Given the description of an element on the screen output the (x, y) to click on. 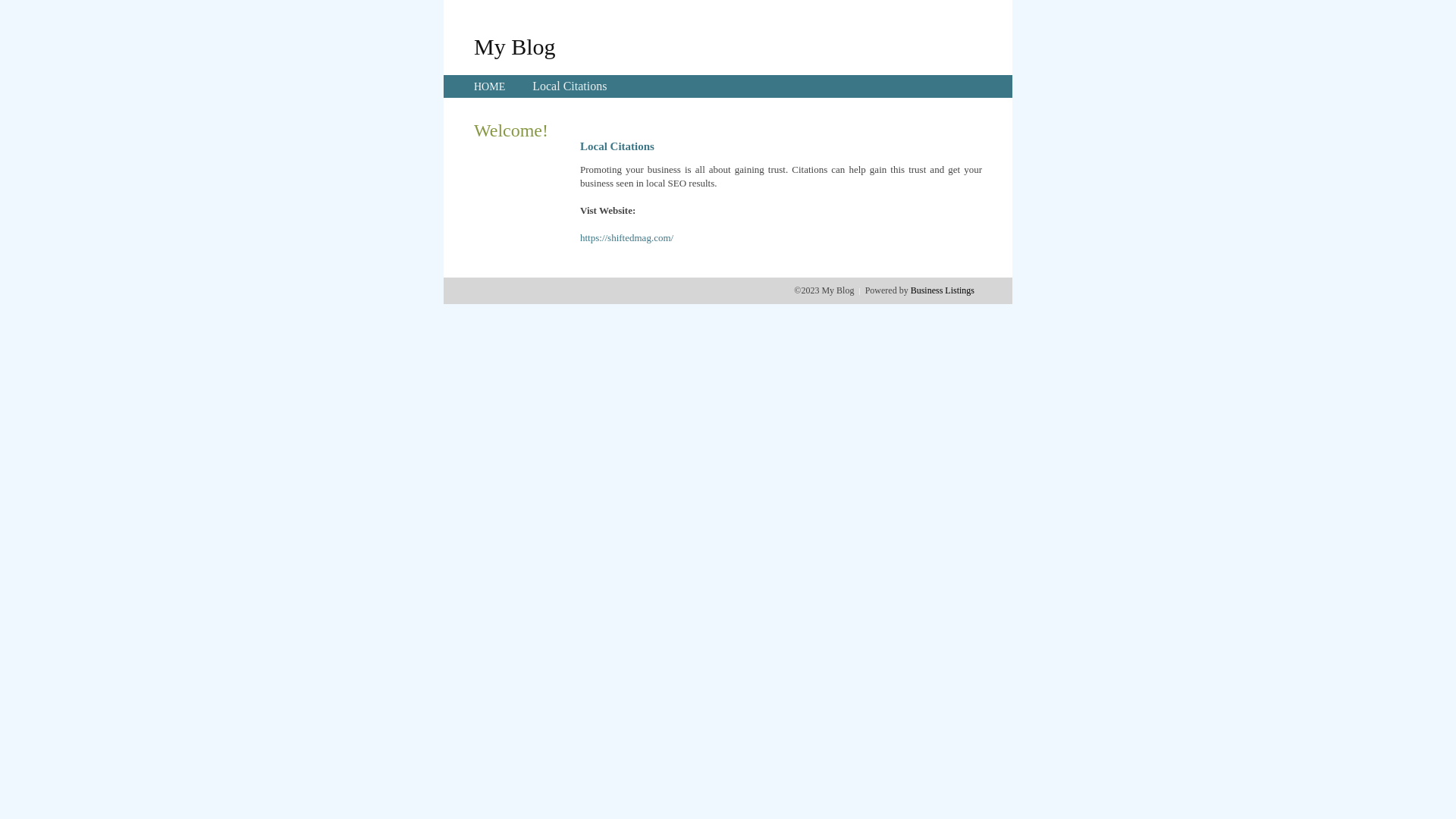
HOME Element type: text (489, 86)
https://shiftedmag.com/ Element type: text (626, 237)
Business Listings Element type: text (942, 290)
Local Citations Element type: text (569, 85)
My Blog Element type: text (514, 46)
